Given the description of an element on the screen output the (x, y) to click on. 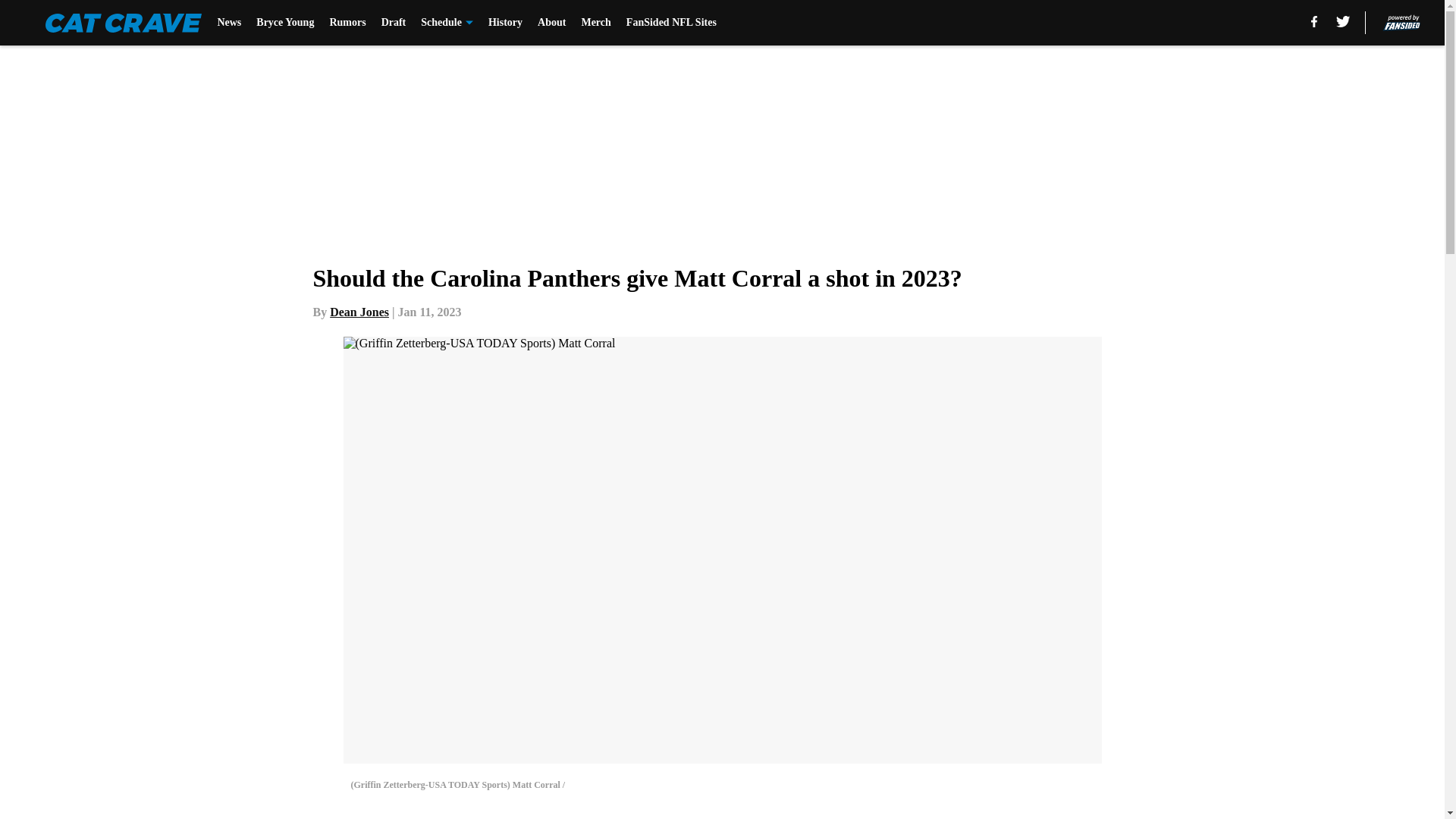
Merch (595, 22)
News (228, 22)
Rumors (347, 22)
FanSided NFL Sites (671, 22)
History (504, 22)
Draft (393, 22)
Dean Jones (359, 311)
About (551, 22)
Bryce Young (285, 22)
